Given the description of an element on the screen output the (x, y) to click on. 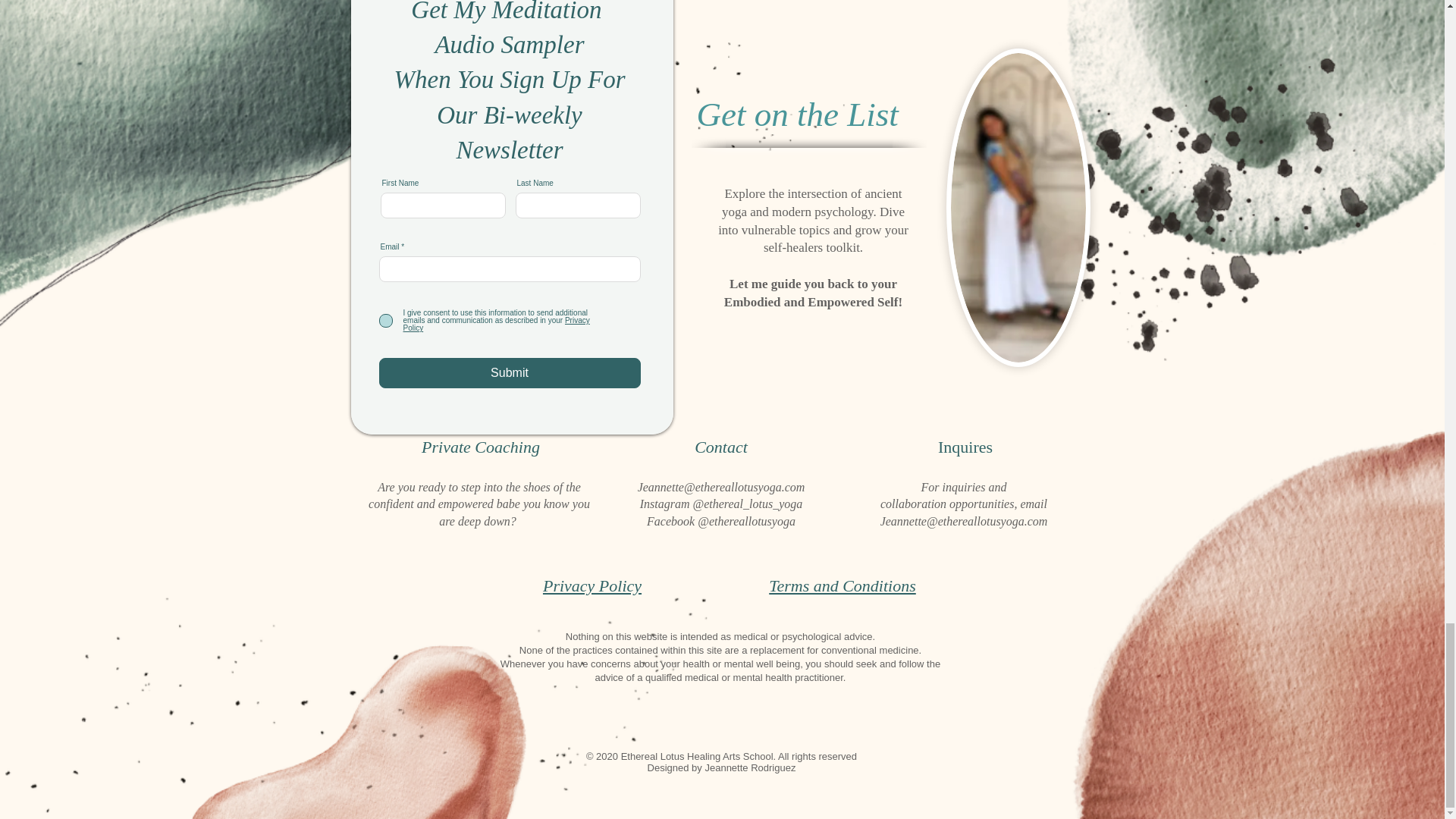
Submit (509, 372)
Privacy Policy (496, 324)
Privacy Policy (592, 585)
